Given the description of an element on the screen output the (x, y) to click on. 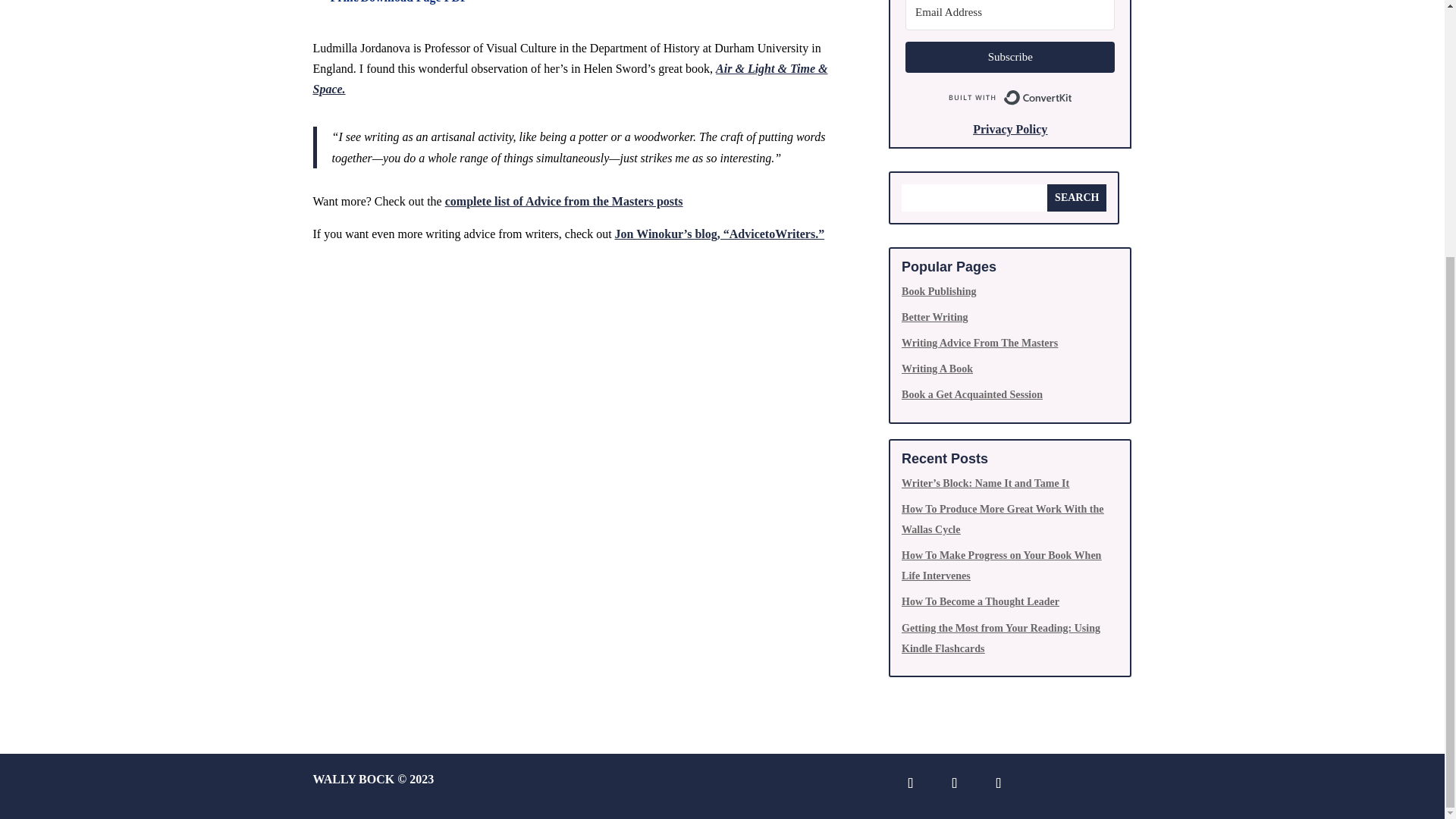
Writing A Book (936, 368)
Follow on RSS (998, 783)
How To Become a Thought Leader (980, 601)
Search (1076, 197)
Privacy Policy (1009, 128)
How To Produce More Great Work With the Wallas Cycle (1002, 519)
Book a Get Acquainted Session (971, 394)
Getting the Most from Your Reading: Using Kindle Flashcards (1000, 638)
Writing Advice From The Masters (979, 342)
Follow on LinkedIn (910, 783)
complete list of Advice from the Masters posts (563, 201)
Search (1076, 197)
Built with ConvertKit (1010, 97)
Follow on X (954, 783)
Search (1076, 197)
